Given the description of an element on the screen output the (x, y) to click on. 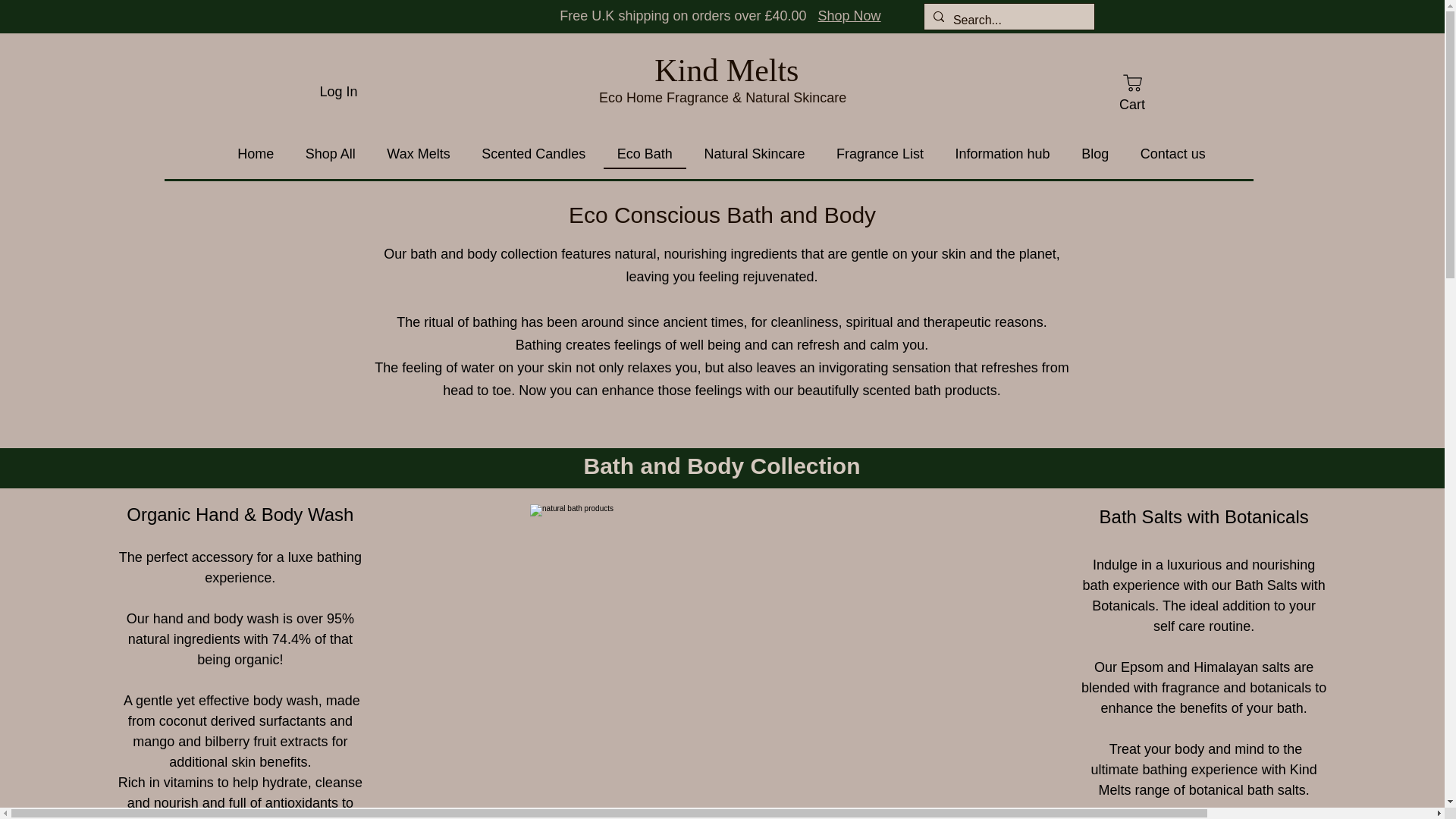
Information hub (1003, 154)
Shop All (330, 154)
Home (256, 154)
Eco Bath (644, 154)
Blog (1094, 154)
Shop Now (849, 15)
Scented Candles (532, 154)
Bath Salts with Botanicals (1203, 516)
Cart (1131, 91)
Contact us (1173, 154)
Log In (338, 91)
Wax Melts (419, 154)
Fragrance List (879, 154)
Natural Skincare (754, 154)
